Given the description of an element on the screen output the (x, y) to click on. 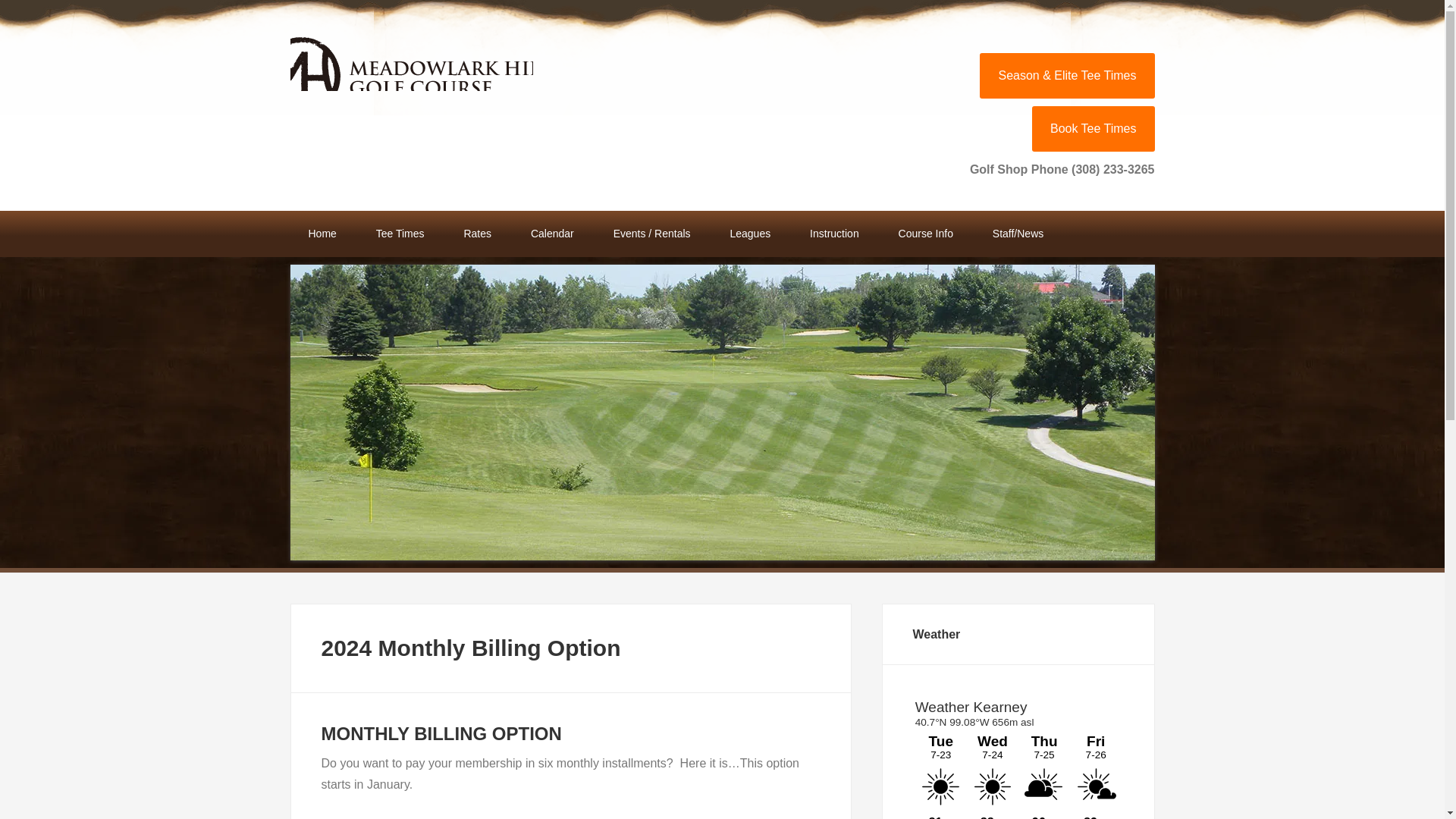
Rates (477, 233)
Tee Times (400, 233)
Leagues (750, 233)
Home (321, 233)
Book Tee Times (1093, 128)
Instruction (834, 233)
Calendar (552, 233)
Meadowlark Hills Golf Course (410, 60)
